Given the description of an element on the screen output the (x, y) to click on. 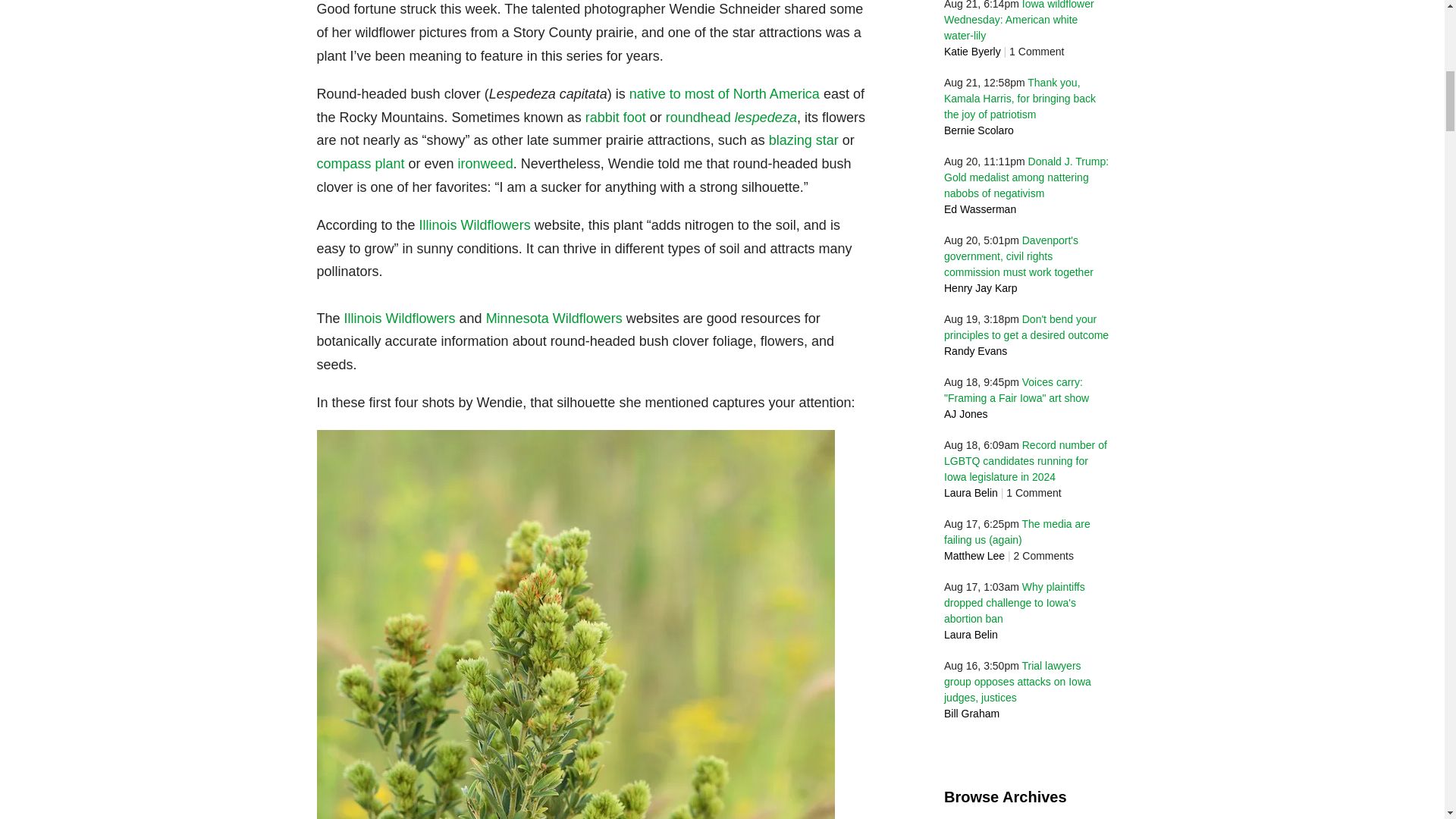
native to most of North America (723, 93)
roundhead lespedeza (730, 117)
Minnesota Wildflowers (554, 318)
Illinois Wildflowers (399, 318)
blazing star (803, 140)
rabbit foot (615, 117)
ironweed (485, 163)
Illinois Wildflowers (475, 224)
compass plant (360, 163)
